Given the description of an element on the screen output the (x, y) to click on. 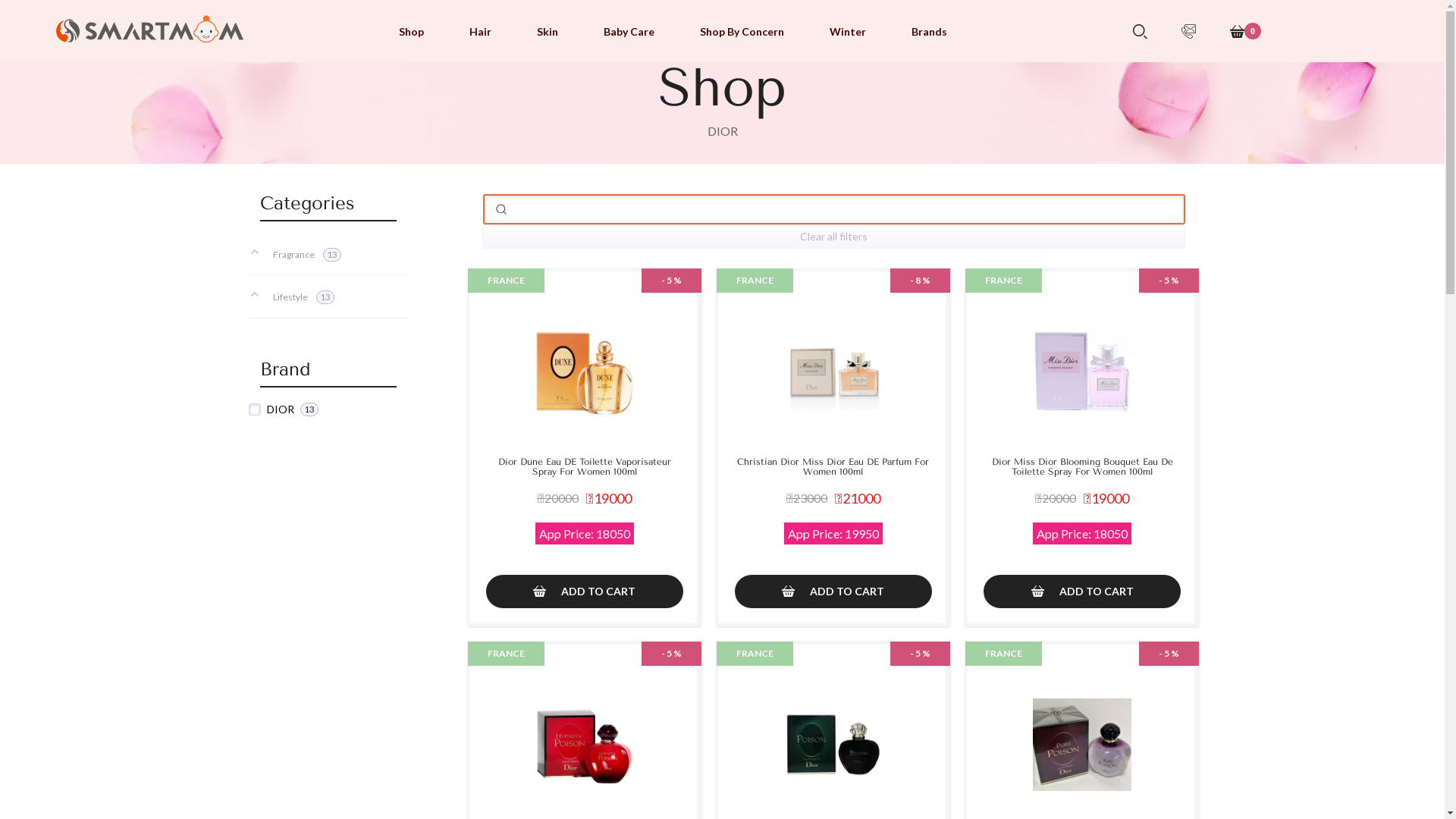
0 Element type: text (1245, 30)
App Price: 18050 Element type: text (1081, 533)
Brands Element type: text (929, 31)
Clear all filters Element type: text (833, 236)
Shop By Concern Element type: text (741, 31)
Shop Element type: text (410, 31)
Hair Element type: text (480, 31)
Baby Care Element type: text (628, 31)
Lifestyle
13 Element type: text (327, 296)
Fragrance
13 Element type: text (327, 253)
ADD TO CART Element type: text (832, 591)
App Price: 18050 Element type: text (584, 533)
Skin Element type: text (547, 31)
DIOR Element type: text (721, 130)
App Price: 19950 Element type: text (833, 533)
ADD TO CART Element type: text (1081, 591)
Winter Element type: text (847, 31)
ADD TO CART Element type: text (583, 591)
